Given the description of an element on the screen output the (x, y) to click on. 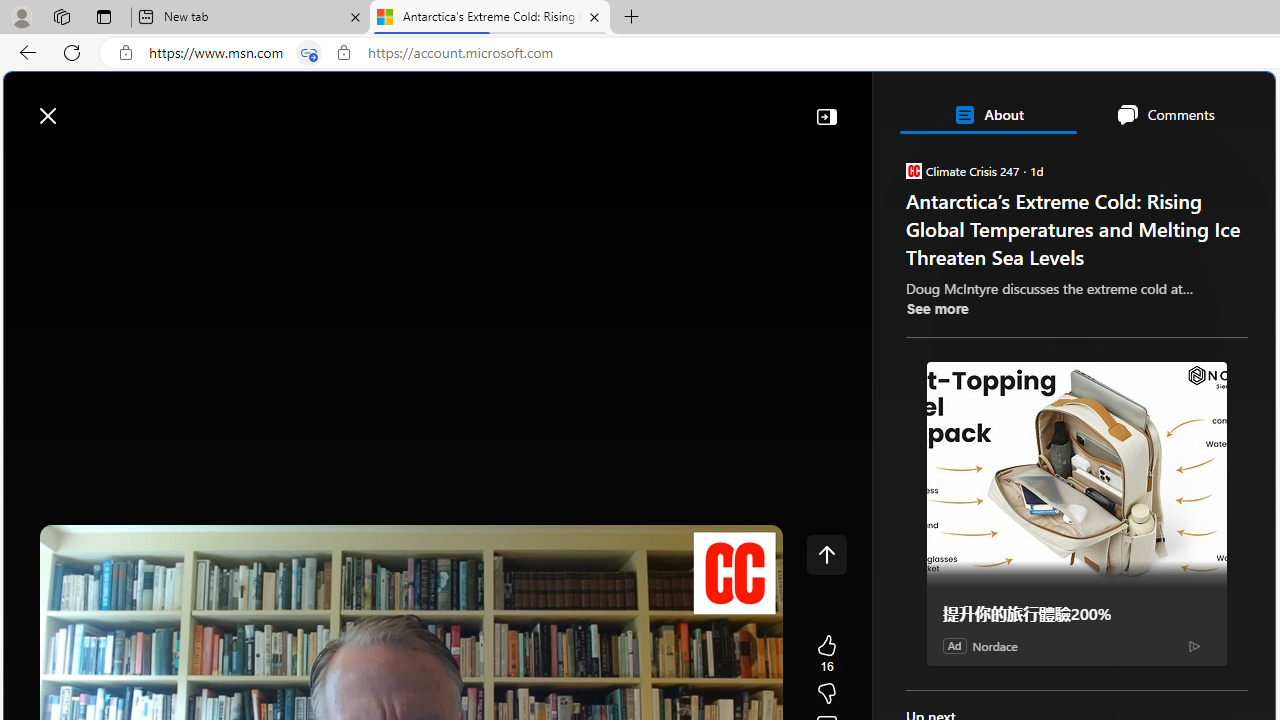
Personalize (1195, 162)
Web search (283, 105)
Class: control icon-only (826, 554)
Comments (1165, 114)
Climate Crisis 247 (912, 170)
